Given the description of an element on the screen output the (x, y) to click on. 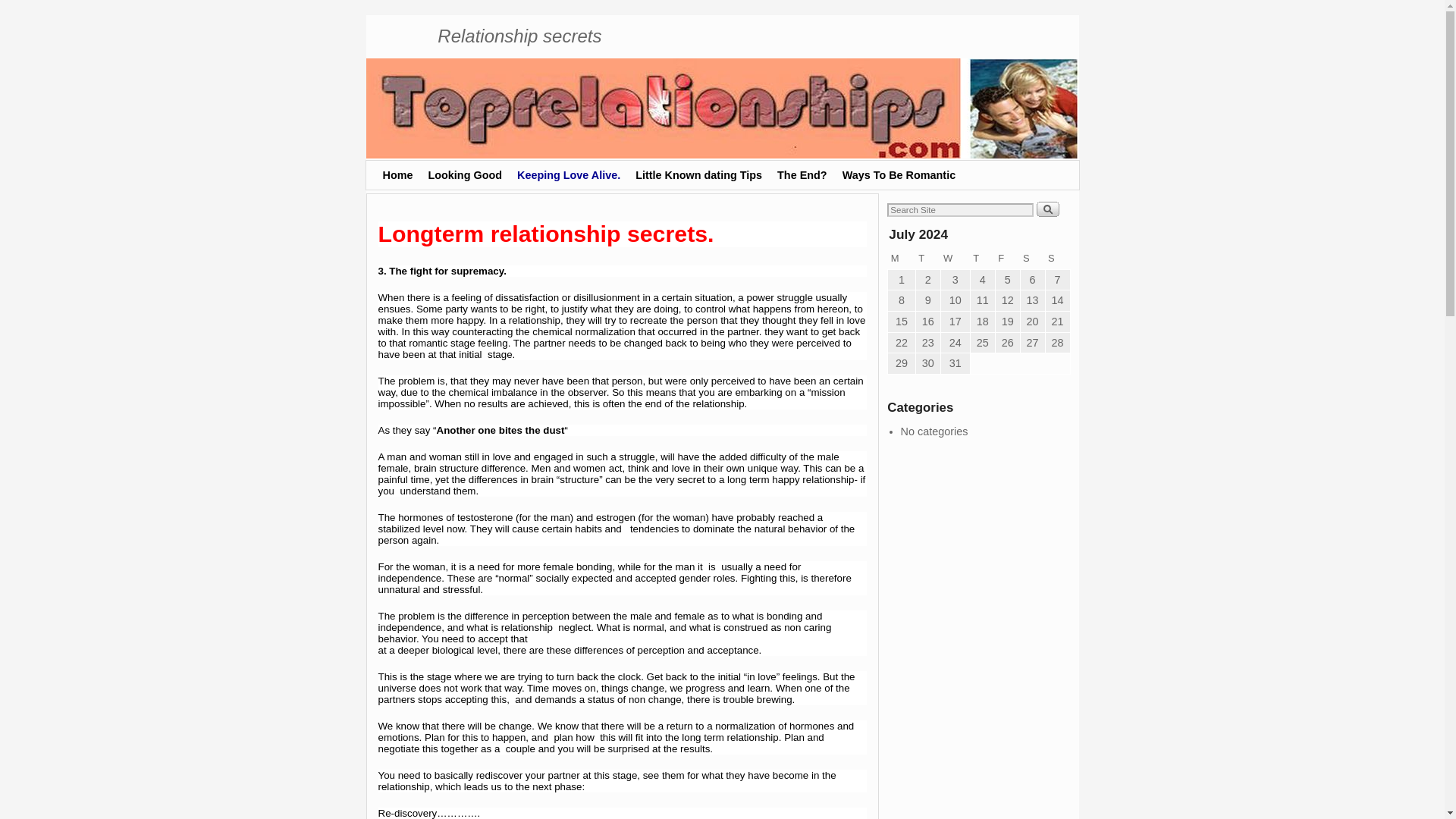
Thursday (981, 258)
Looking Good (464, 174)
Tuesday (927, 258)
Keeping Love Alive. (568, 174)
Wednesday (954, 258)
Saturday (1032, 258)
Sunday (1057, 258)
Skip to primary content (411, 164)
Friday (1007, 258)
Home (397, 174)
Monday (901, 258)
Skip to secondary content (417, 164)
